Given the description of an element on the screen output the (x, y) to click on. 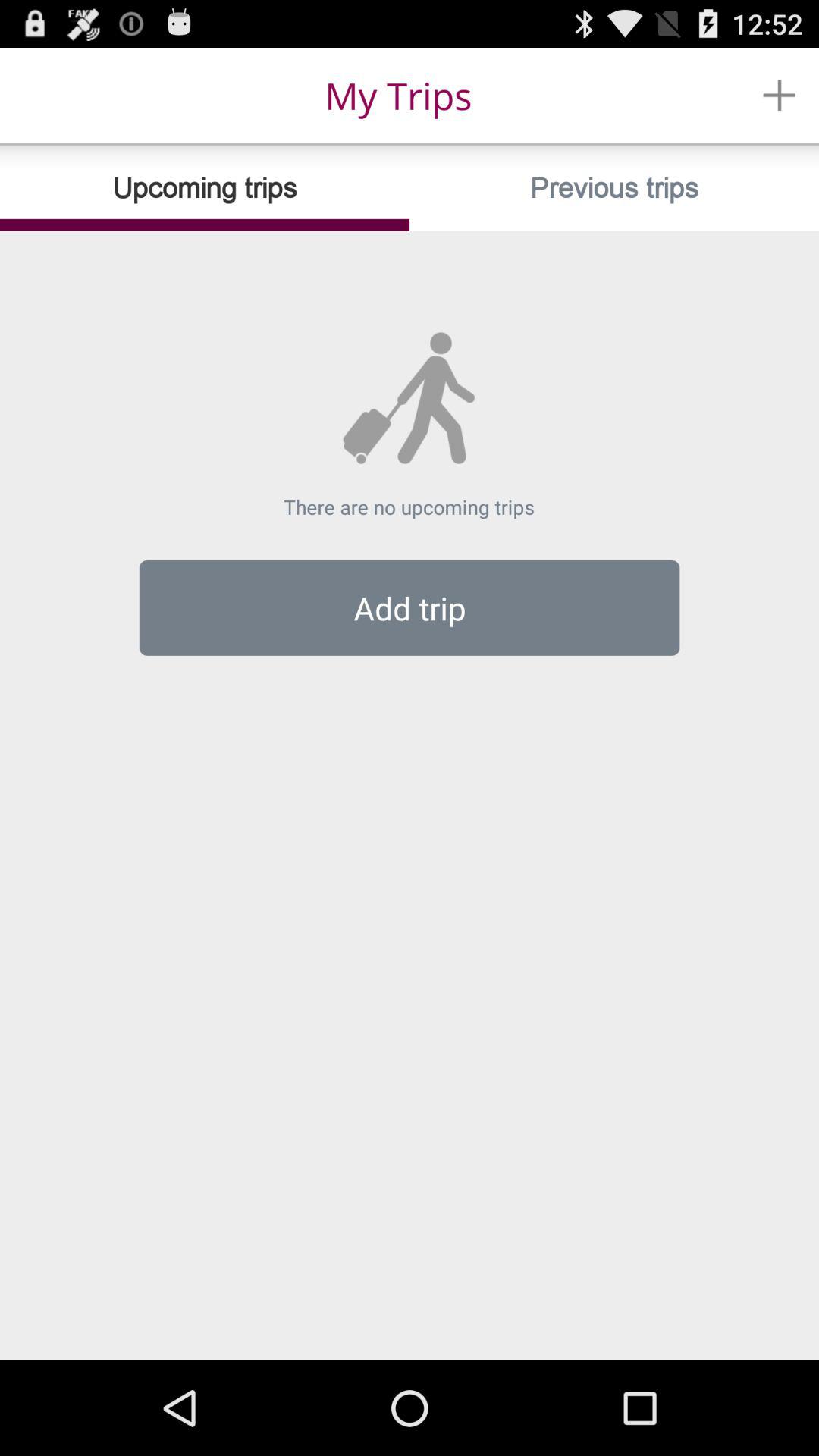
turn on item next to the upcoming trips icon (614, 187)
